Given the description of an element on the screen output the (x, y) to click on. 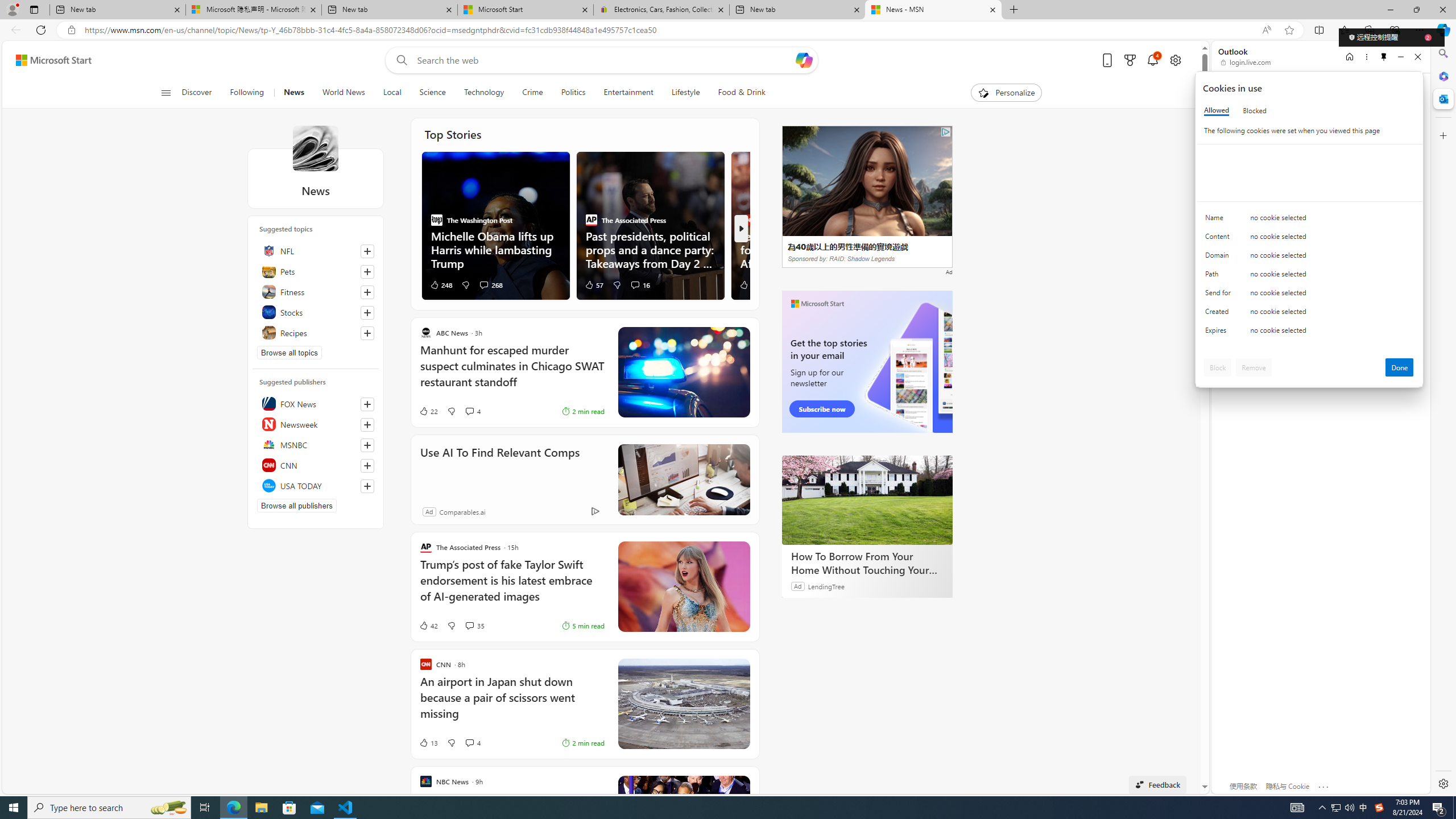
171 Like (749, 284)
Class: c0153 c0157 c0154 (1309, 220)
Use AI To Find Relevant Comps (683, 479)
Use AI To Find Relevant CompsAdComparables.ai (585, 479)
Block (1217, 367)
Class: c0153 c0157 (1309, 332)
Send for (1219, 295)
Subscribe now (821, 408)
